Given the description of an element on the screen output the (x, y) to click on. 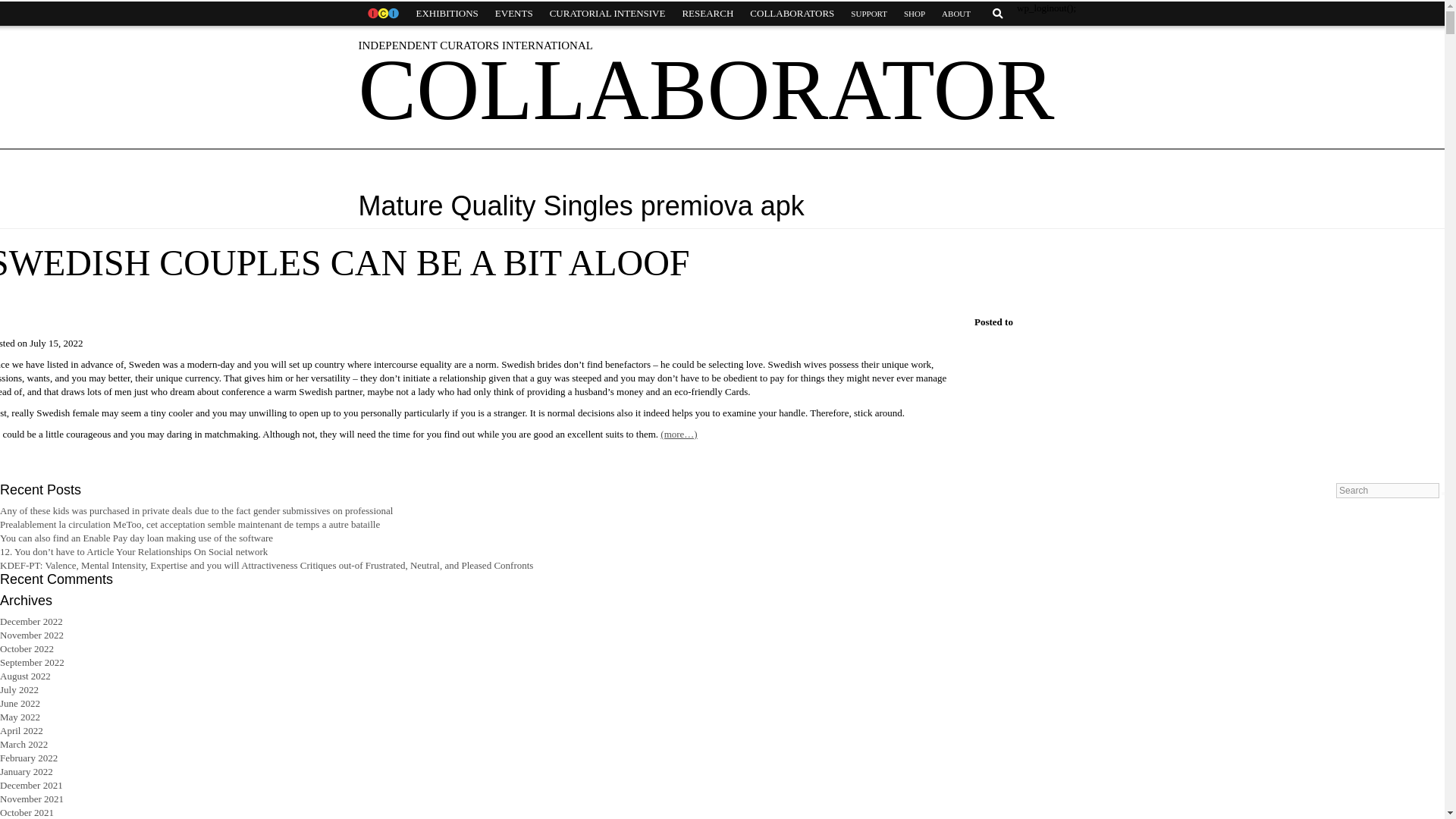
COLLABORATORS (792, 13)
RESEARCH (706, 13)
CURATORIAL INTENSIVE (607, 13)
EXHIBITIONS (446, 13)
EVENTS (513, 13)
HOME (382, 13)
